Given the description of an element on the screen output the (x, y) to click on. 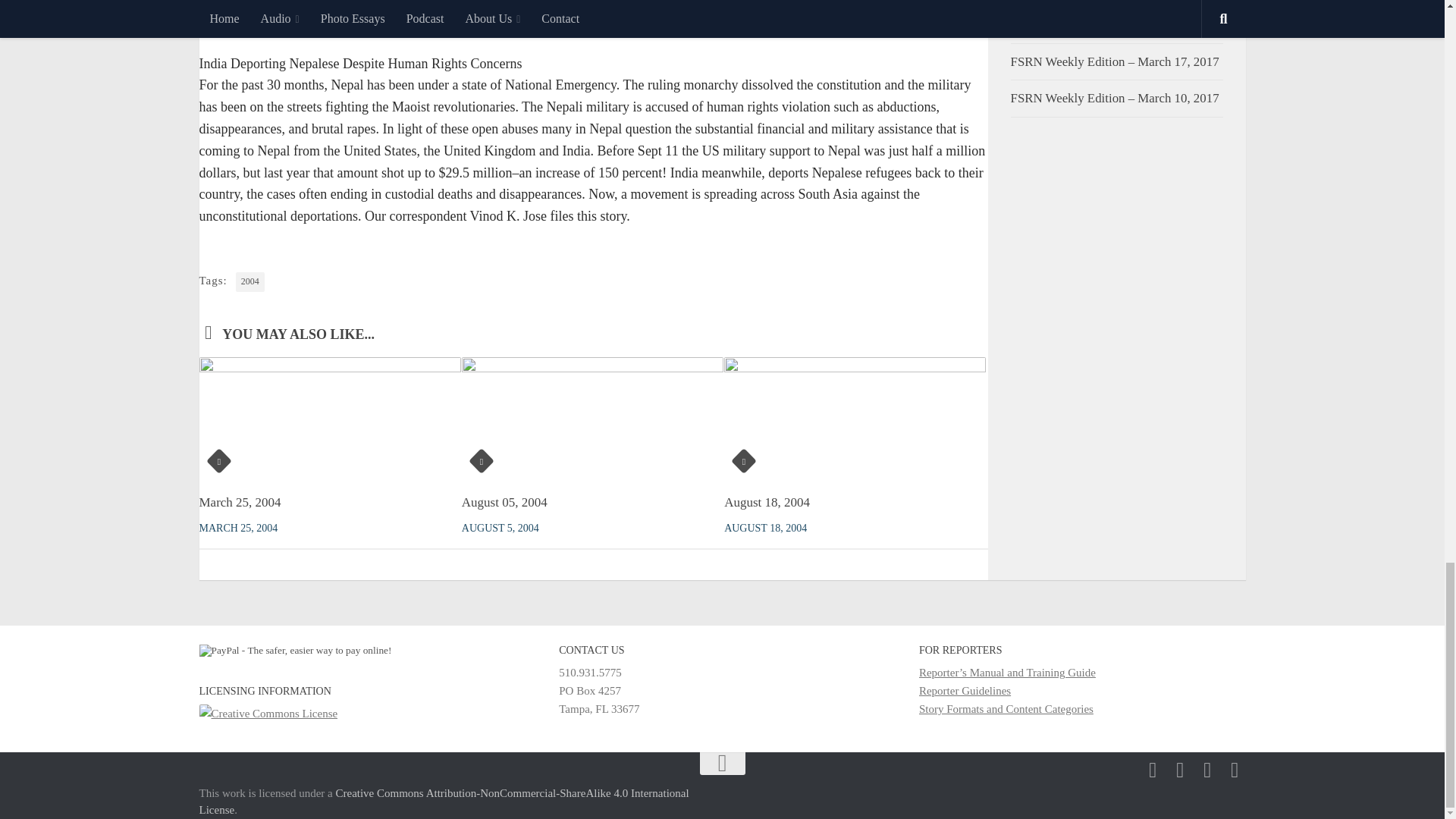
August 18, 2004 (766, 502)
March 25, 2004 (239, 502)
2004 (249, 281)
August 05, 2004 (504, 502)
